Given the description of an element on the screen output the (x, y) to click on. 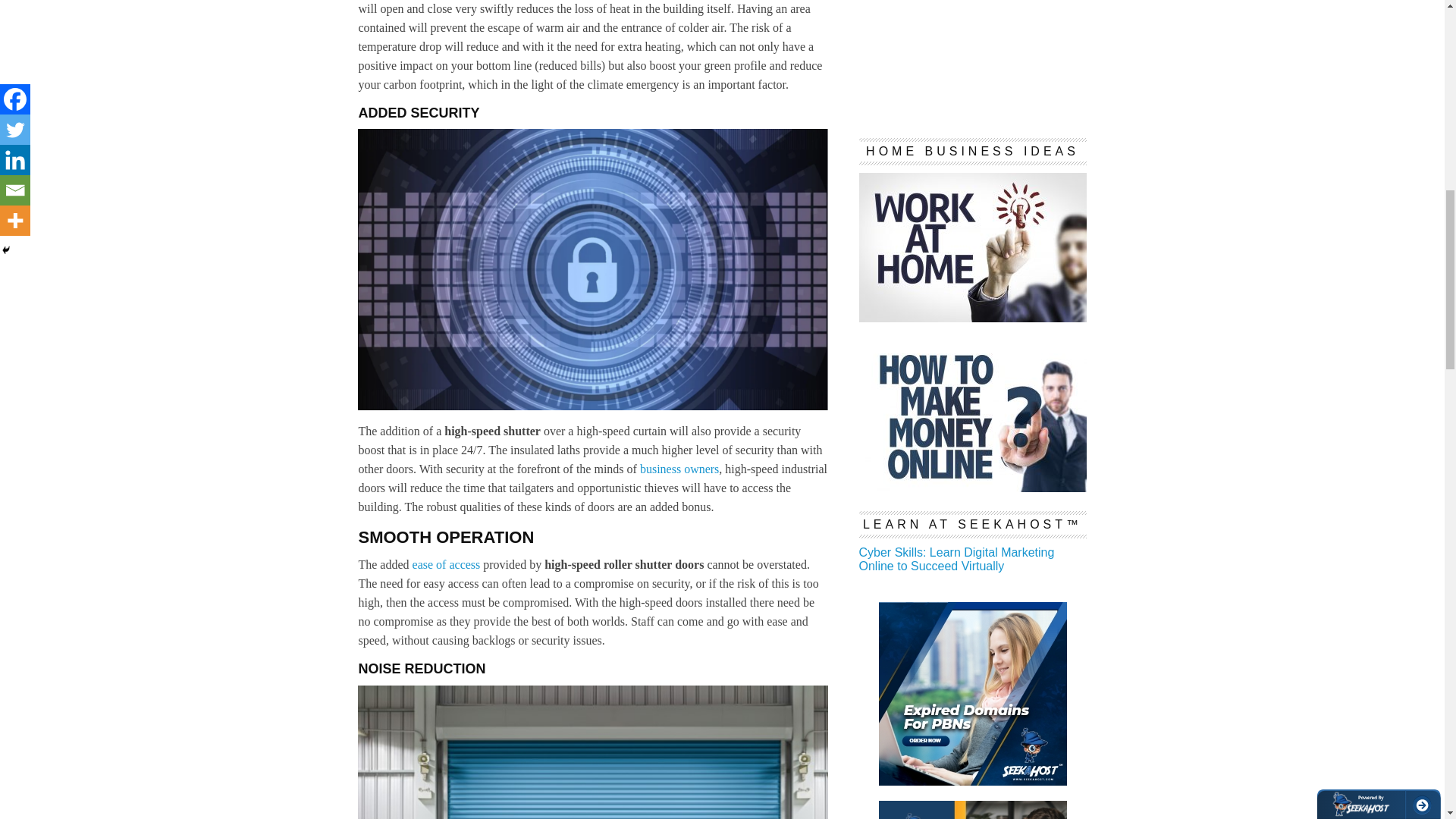
ease of access (446, 563)
business owners (679, 468)
